Given the description of an element on the screen output the (x, y) to click on. 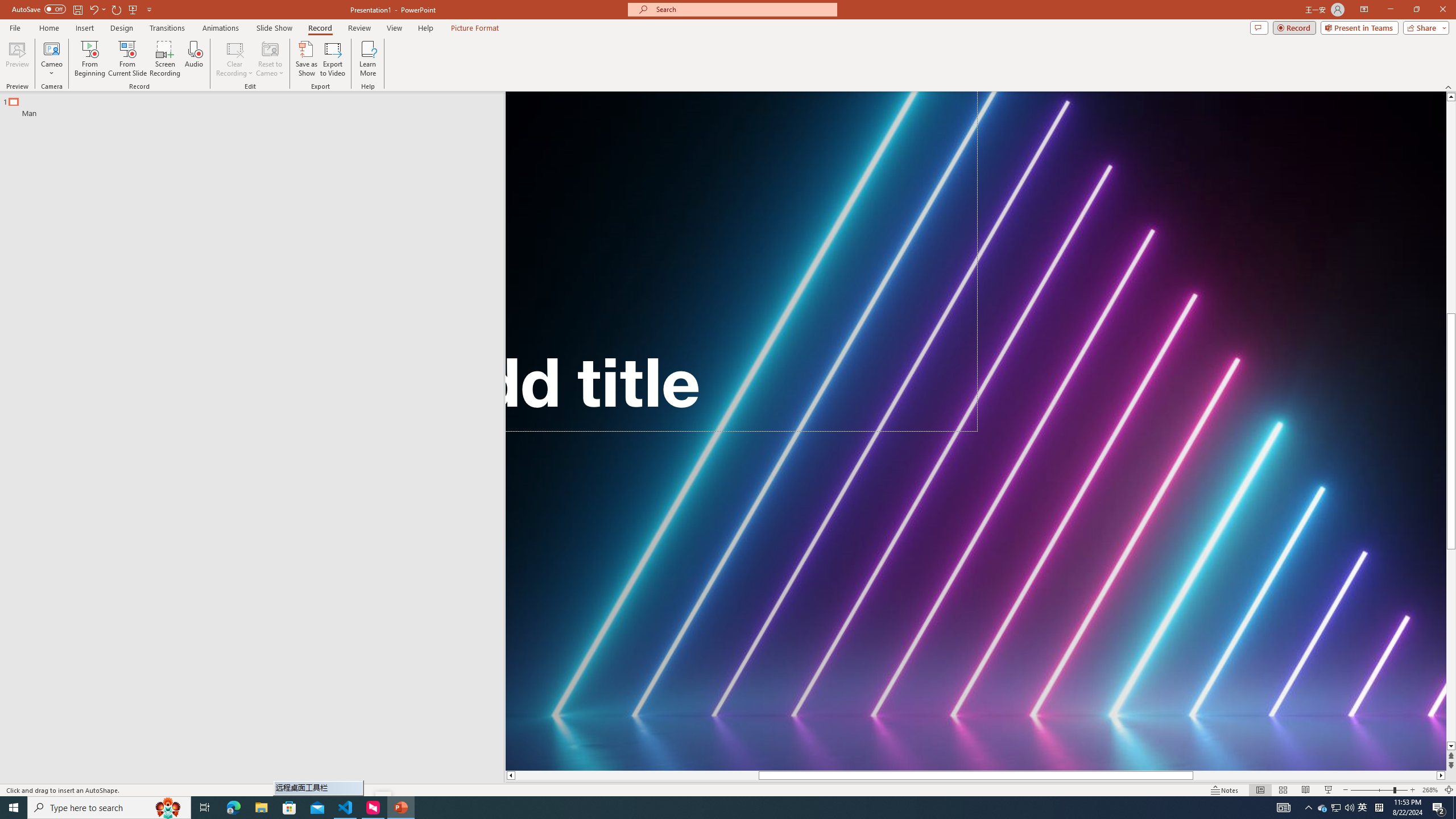
Cameo (51, 48)
Zoom (1379, 790)
Record (320, 28)
Redo (117, 9)
Screen Recording (165, 58)
Audio (193, 58)
Share (1423, 27)
Design (122, 28)
Transitions (167, 28)
File Tab (15, 27)
Reading View (1305, 790)
Clear Recording (234, 58)
